Given the description of an element on the screen output the (x, y) to click on. 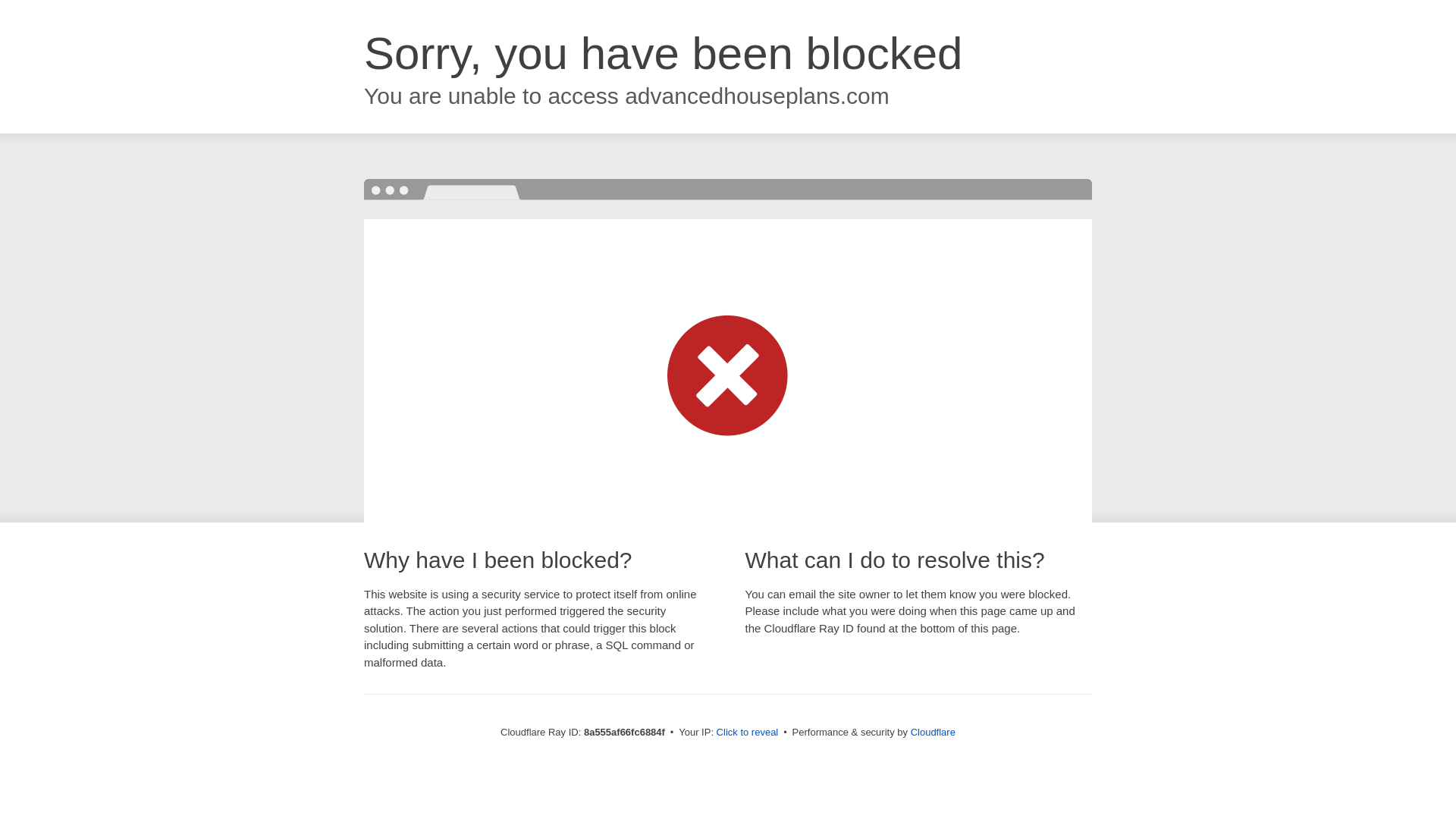
Cloudflare (933, 731)
Click to reveal (747, 732)
